Given the description of an element on the screen output the (x, y) to click on. 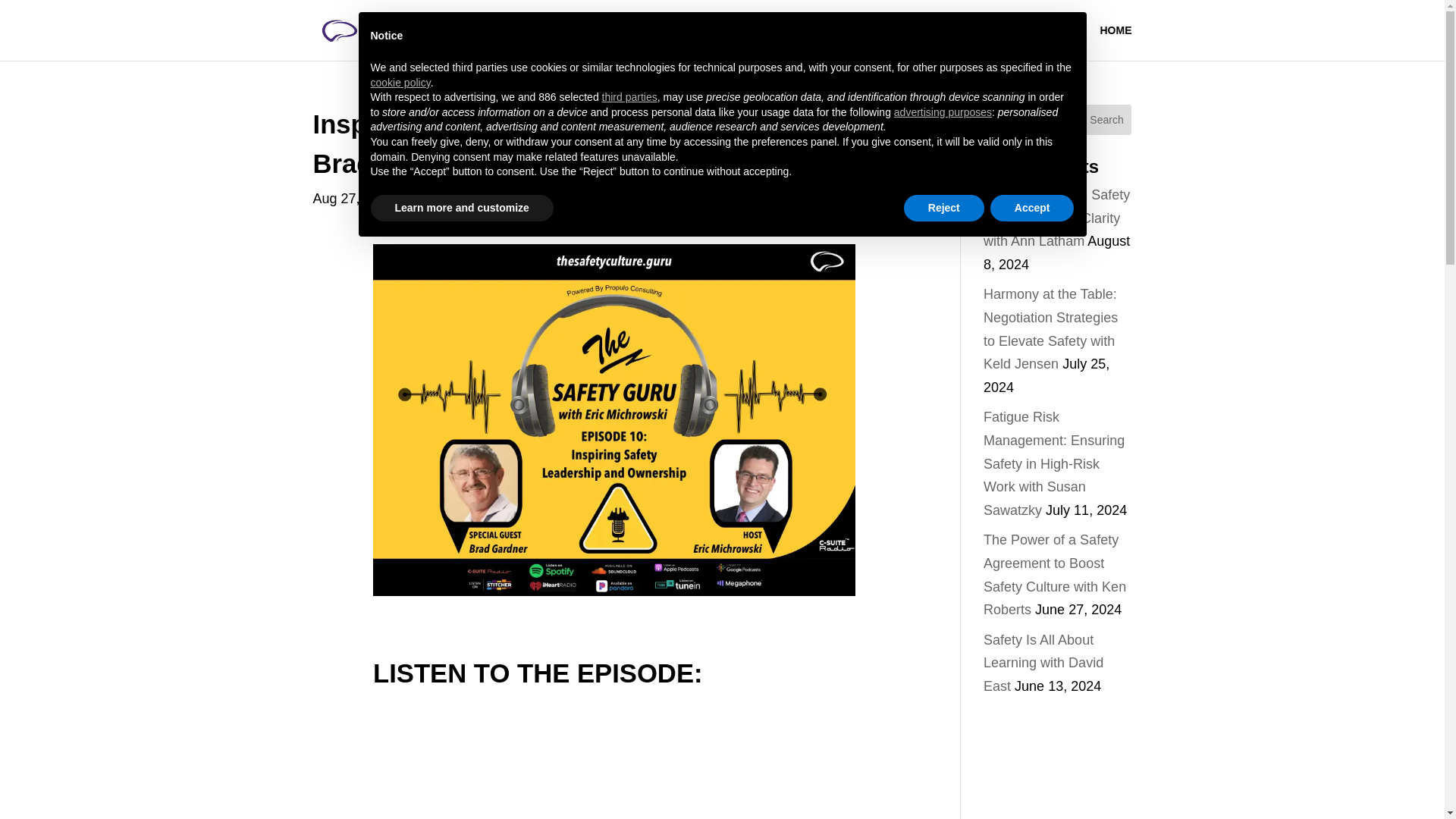
Inspiring Safety Leadership and Ownership with Brad Gardner (613, 143)
cookie policy (399, 82)
advertising purposes (942, 112)
Search (1106, 119)
third parties (630, 97)
Learn more and customize (461, 207)
HOME (1115, 42)
